Given the description of an element on the screen output the (x, y) to click on. 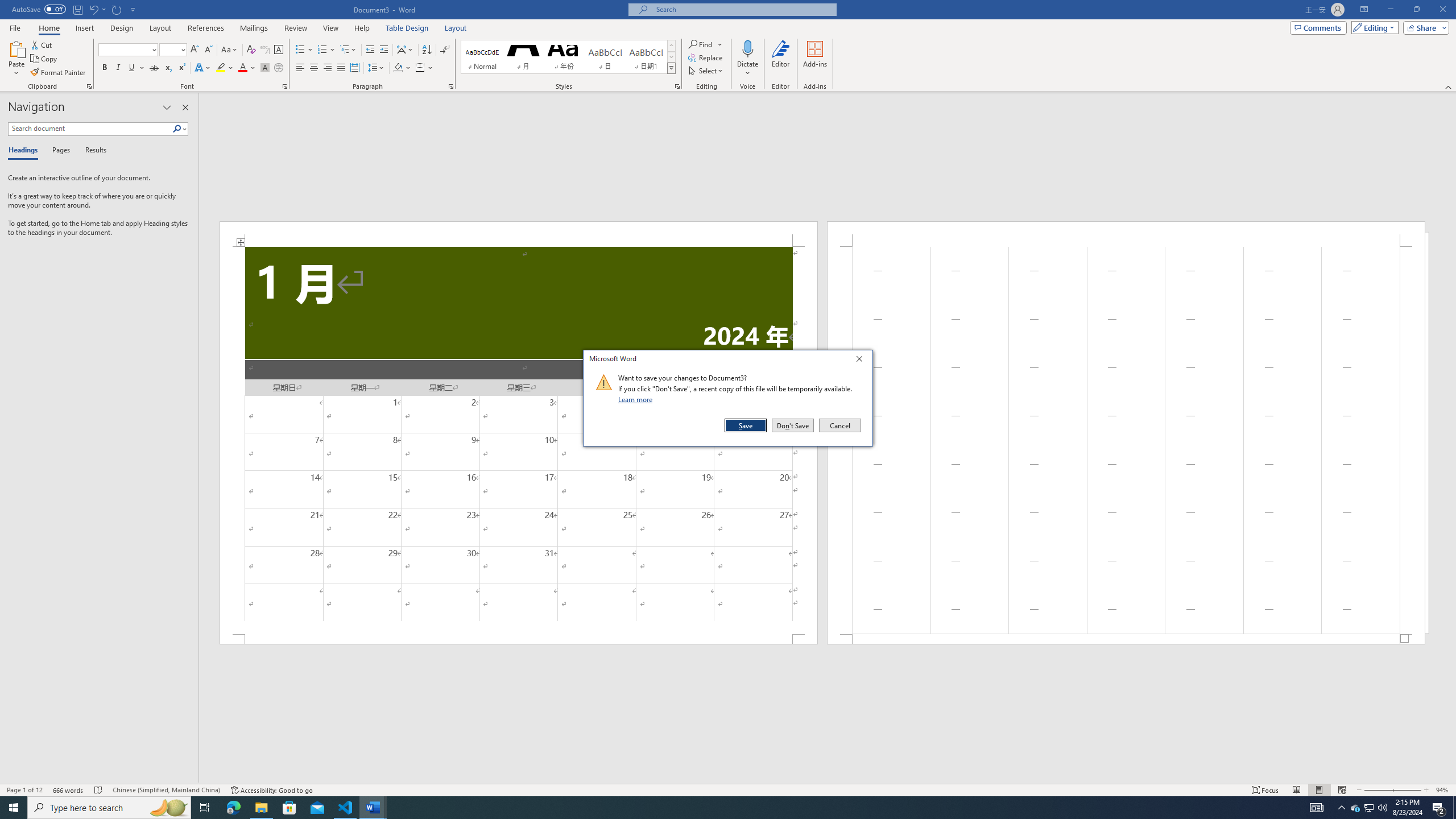
Paragraph... (450, 85)
Asian Layout (405, 49)
Microsoft Edge (233, 807)
File Explorer - 1 running window (261, 807)
Select (705, 69)
